Given the description of an element on the screen output the (x, y) to click on. 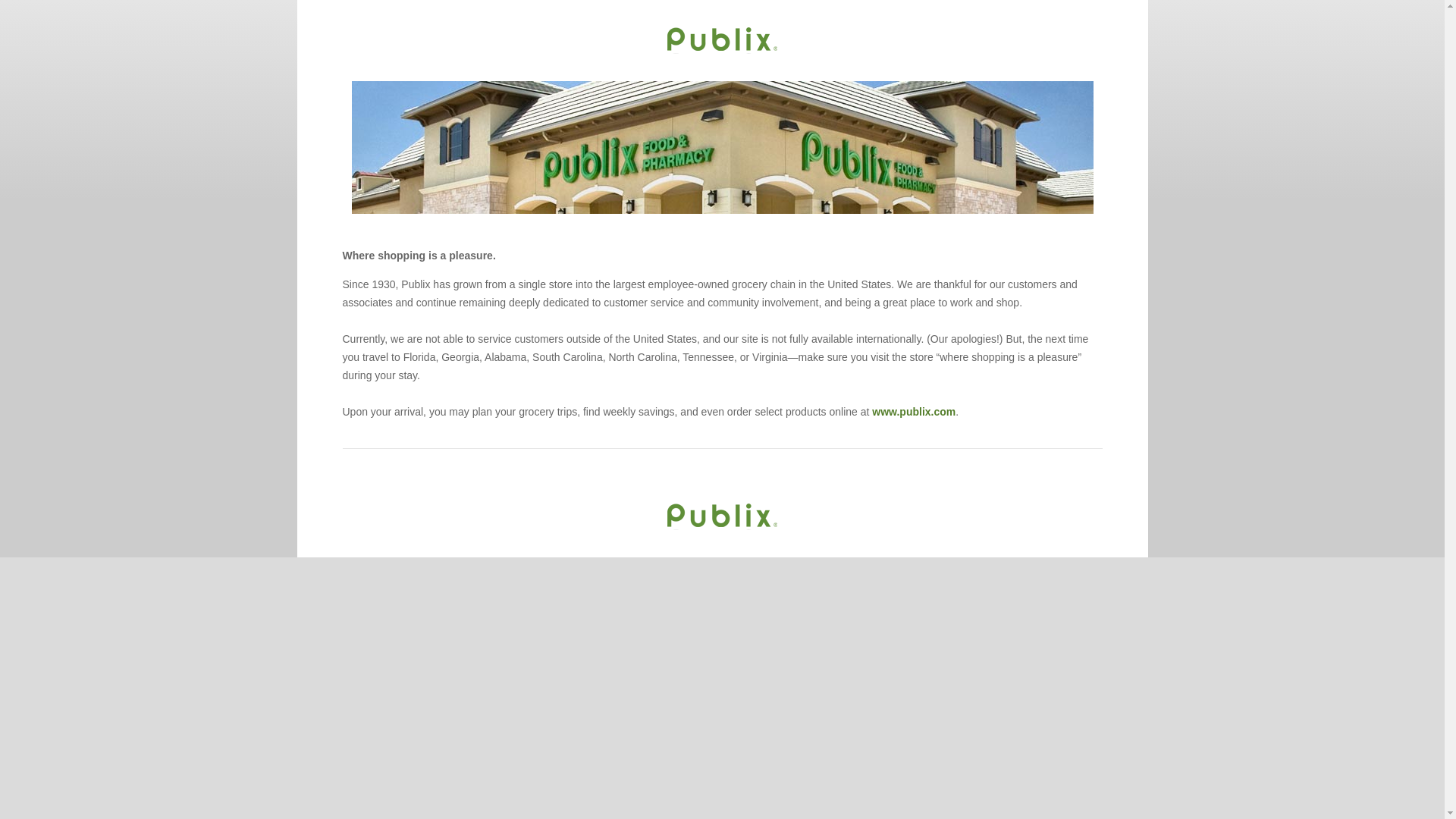
www.publix.com (913, 411)
